Given the description of an element on the screen output the (x, y) to click on. 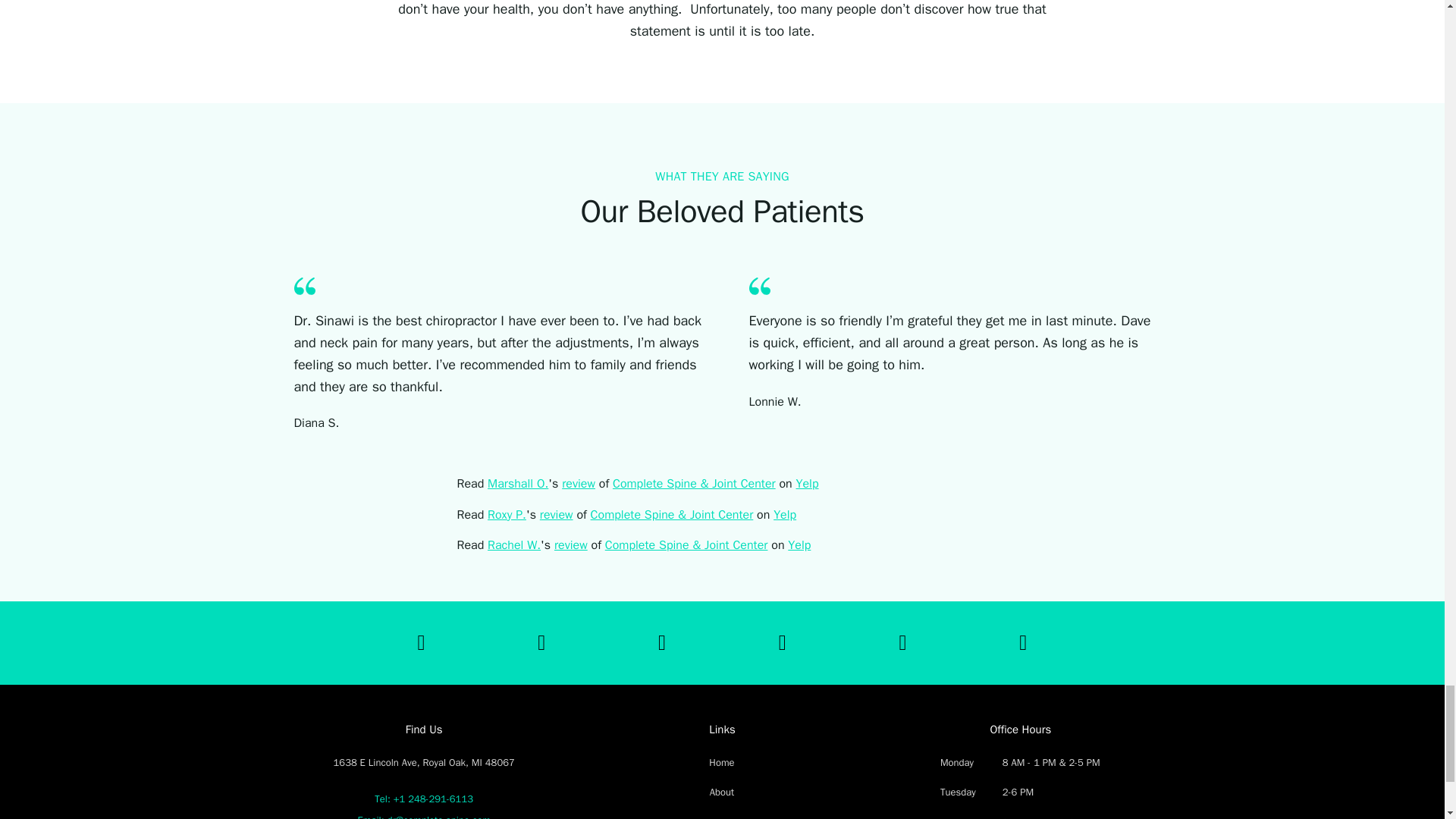
Rachel W. (513, 544)
review (571, 544)
Marshall O. (517, 483)
Yelp (784, 513)
Roxy P. (506, 513)
review (556, 513)
Yelp (807, 483)
review (578, 483)
